Given the description of an element on the screen output the (x, y) to click on. 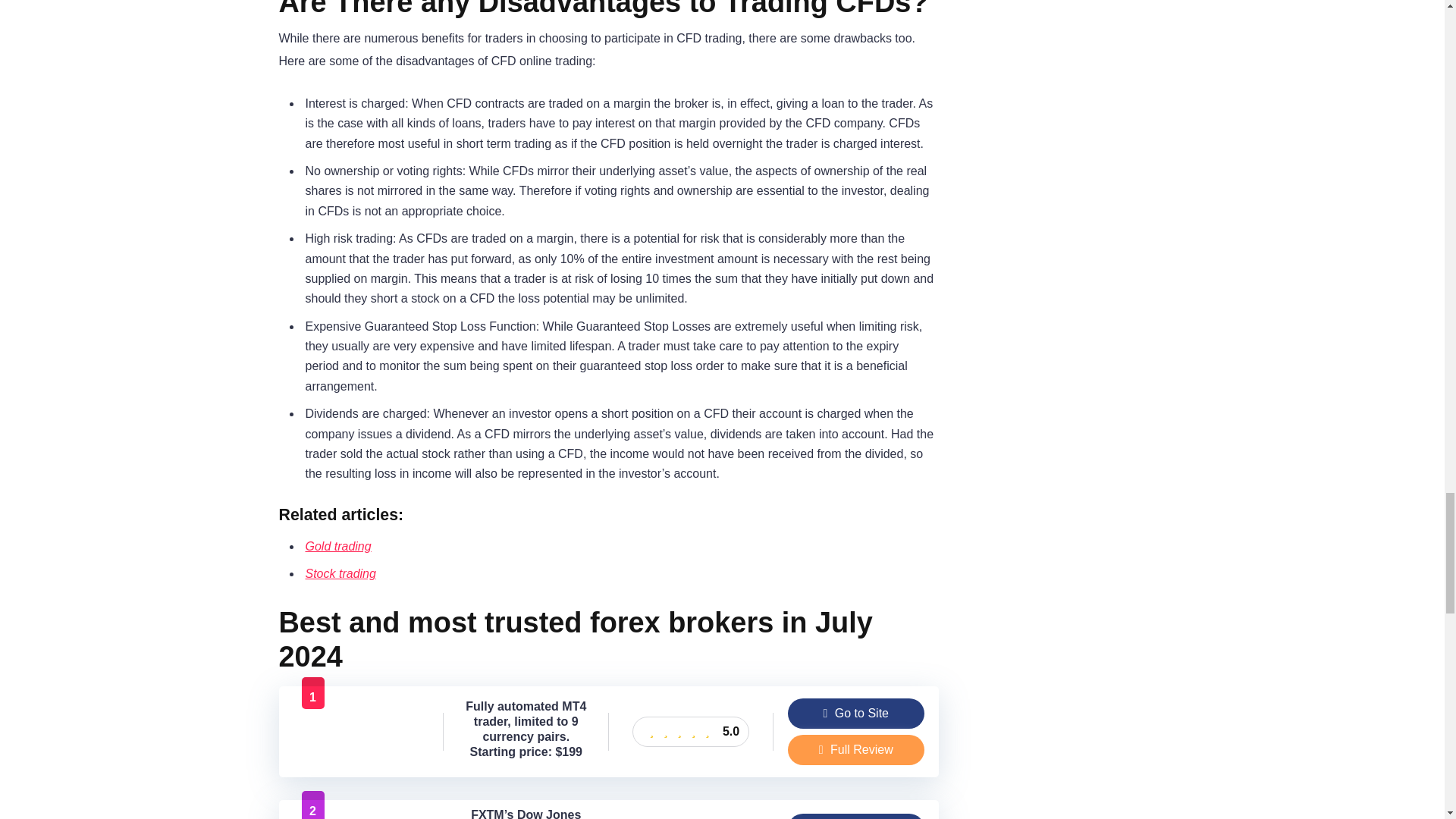
Full Review (855, 749)
Go to Site (855, 713)
Full Review (855, 749)
Go to Site (855, 816)
Go to Site (855, 713)
Forex Gump Robot Review (360, 757)
Stock trading (339, 573)
Go to Site (855, 816)
Gold trading (337, 545)
